Given the description of an element on the screen output the (x, y) to click on. 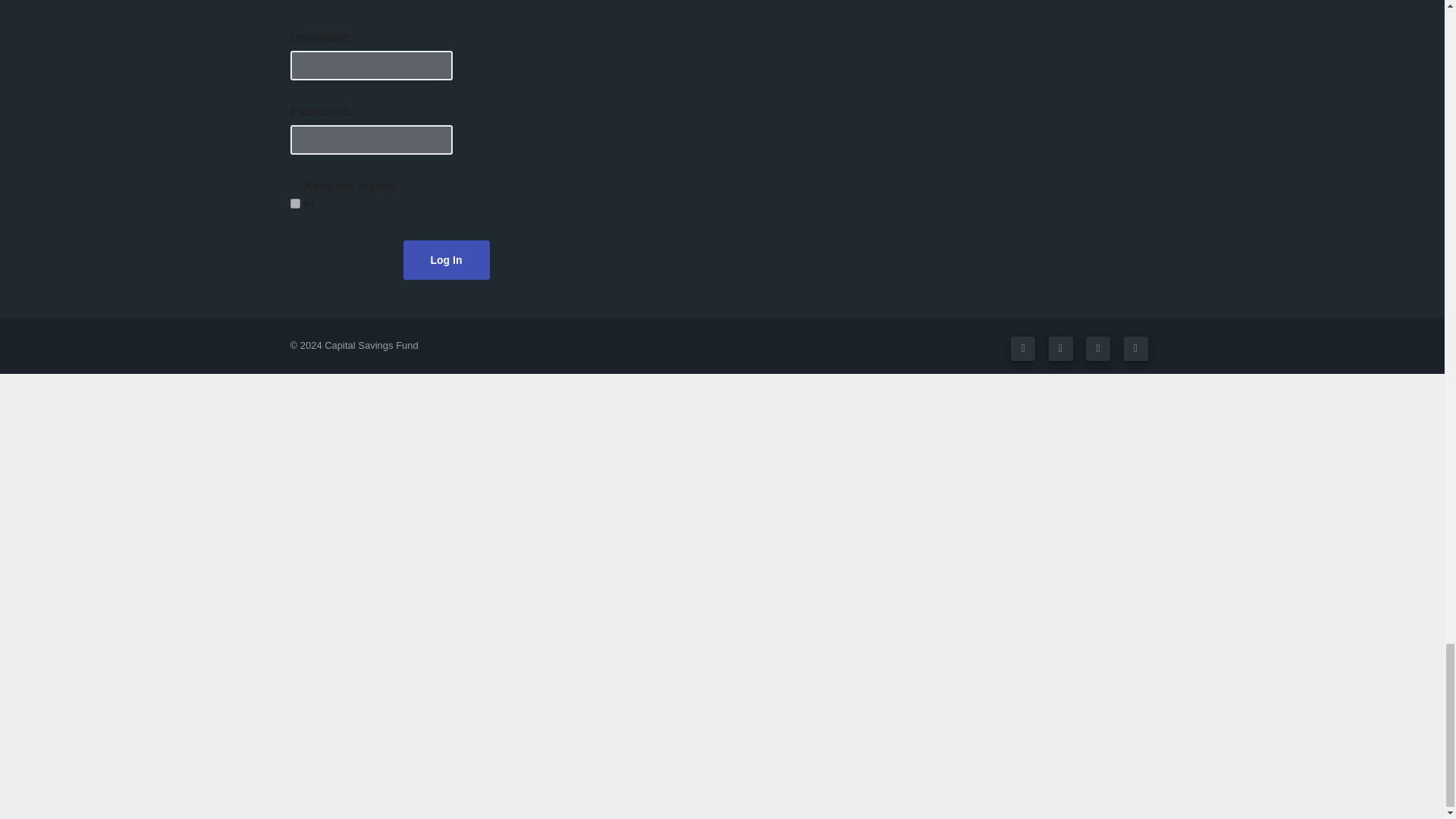
Log In (446, 258)
forever (294, 203)
